Given the description of an element on the screen output the (x, y) to click on. 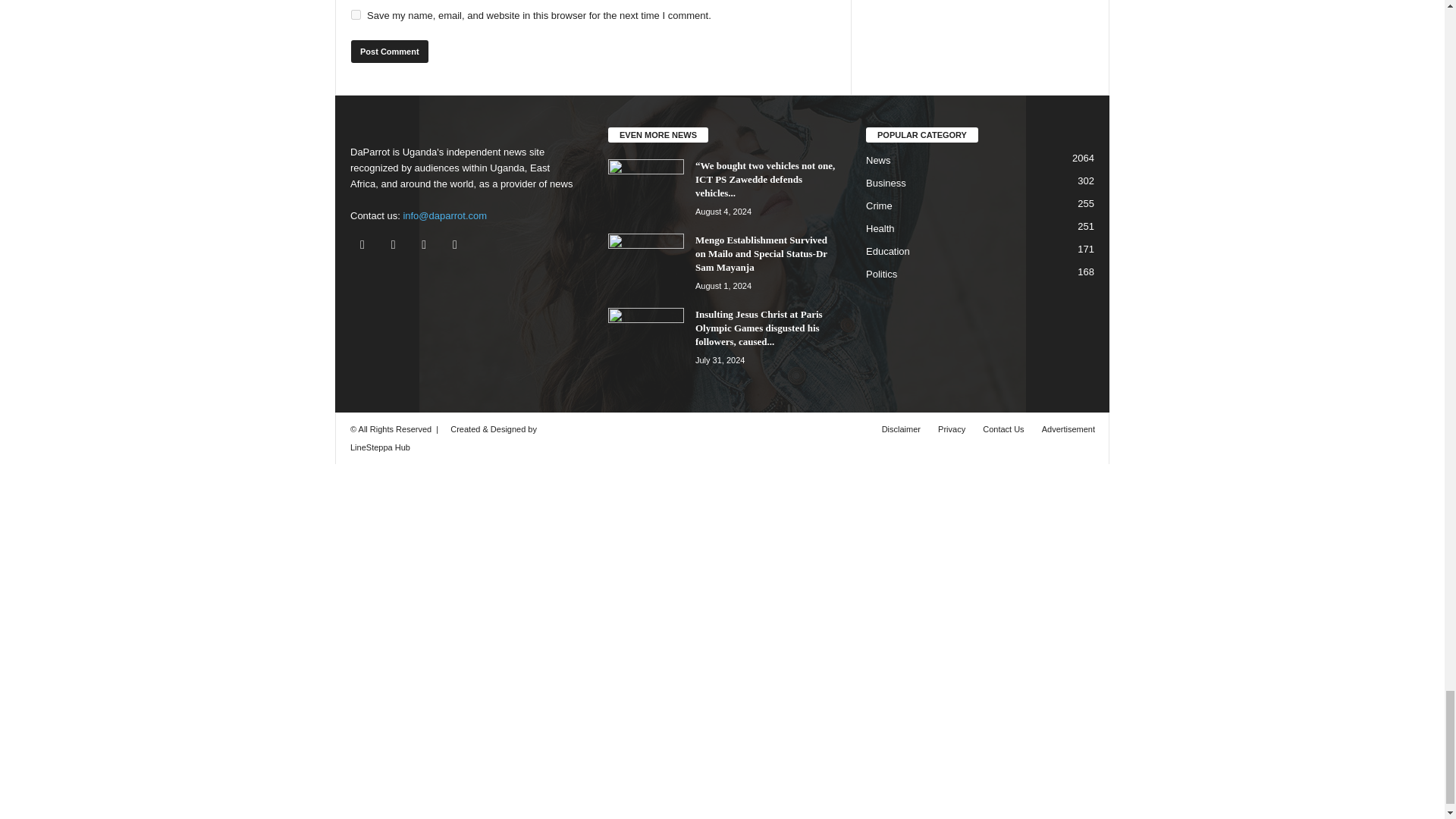
yes (355, 14)
Post Comment (389, 51)
